Given the description of an element on the screen output the (x, y) to click on. 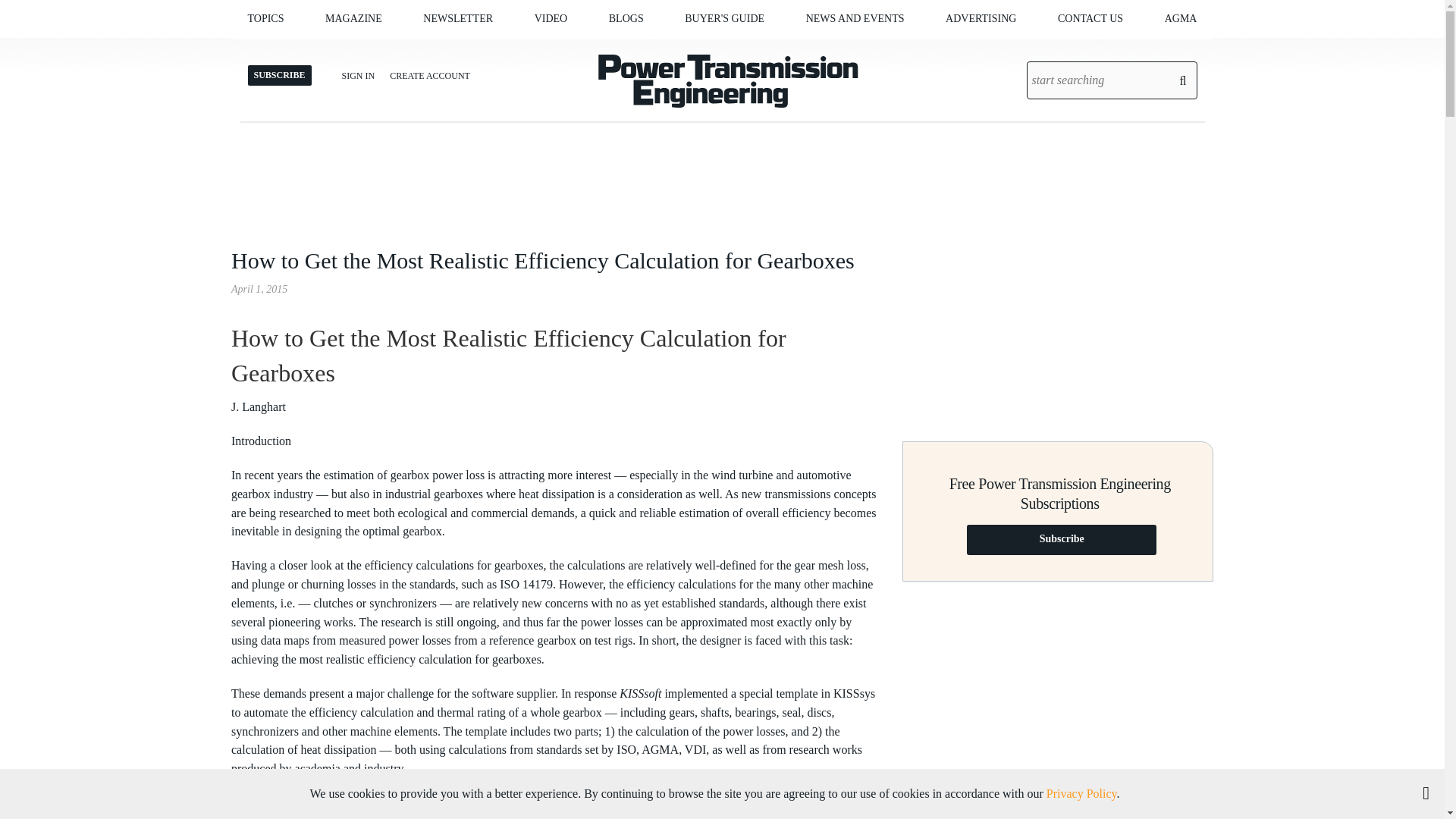
3rd party ad content (1057, 330)
3rd party ad content (1057, 691)
3rd party ad content (722, 172)
